Given the description of an element on the screen output the (x, y) to click on. 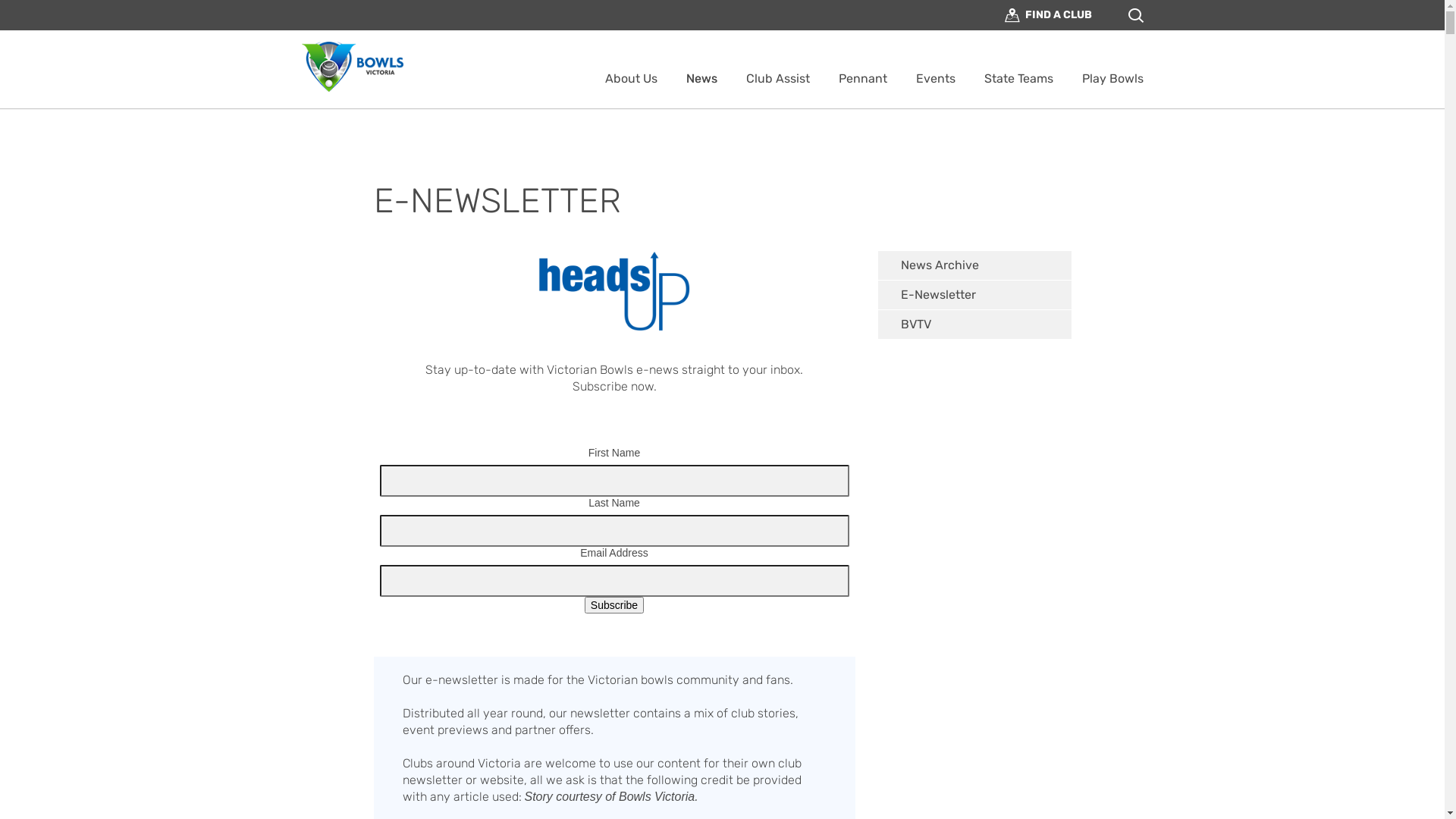
Subscribe Element type: text (613, 604)
BVTV Element type: text (974, 324)
Bowls Victoria Element type: hover (352, 66)
Play Bowls Element type: text (1111, 78)
Events Element type: text (935, 78)
E-Newsletter Element type: text (974, 295)
News Element type: text (700, 78)
Club Assist Element type: text (777, 78)
News Archive Element type: text (974, 265)
FIND A CLUB Element type: text (1047, 15)
State Teams Element type: text (1018, 78)
Search Element type: text (831, 75)
About Us Element type: text (631, 78)
Pennant Element type: text (862, 78)
